Given the description of an element on the screen output the (x, y) to click on. 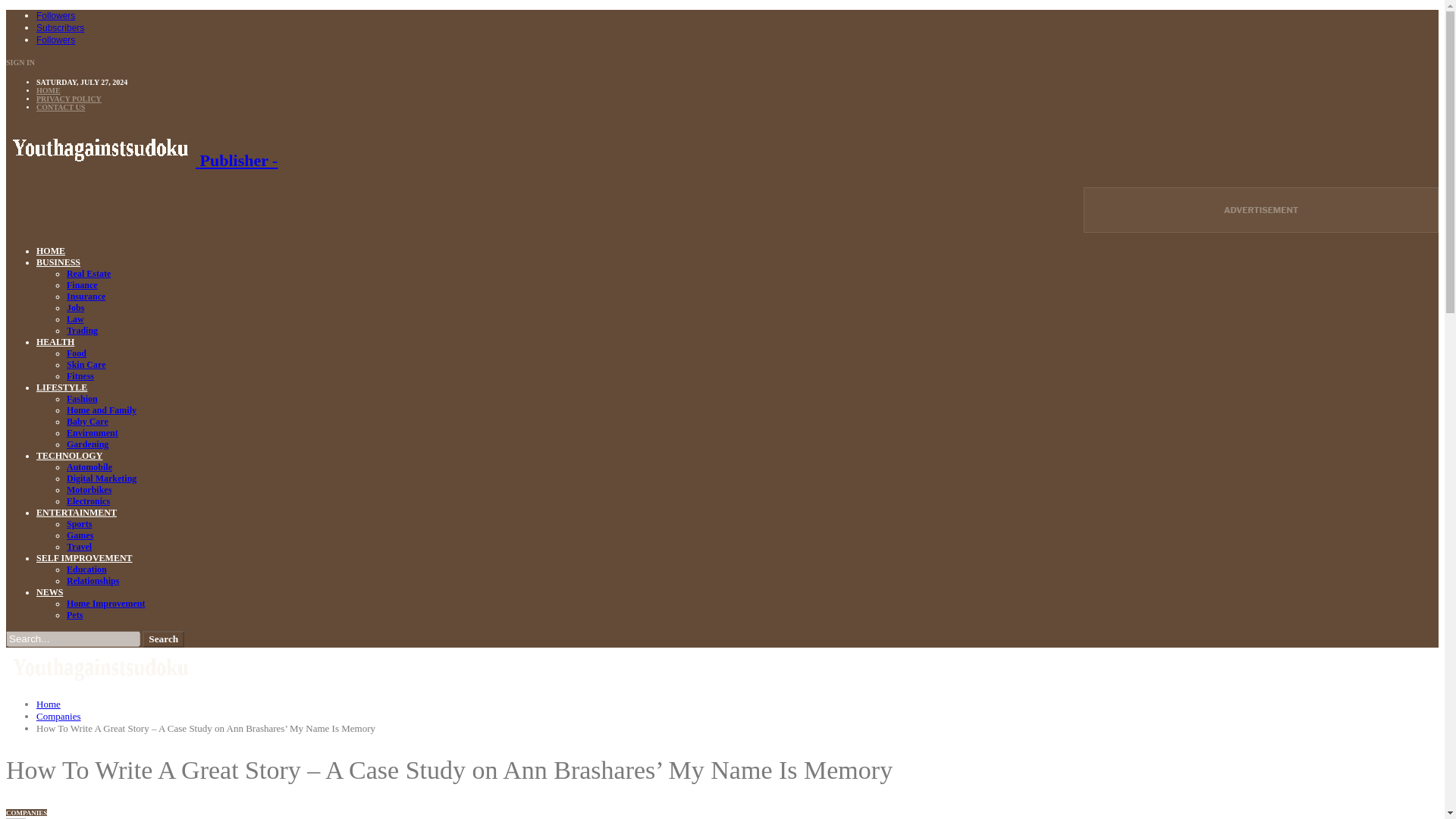
PRIVACY POLICY (68, 99)
Home and Family (101, 409)
Sports (78, 523)
Fashion (81, 398)
ENTERTAINMENT (76, 511)
Law (75, 318)
Search (163, 638)
Followers (55, 39)
Search (163, 638)
Trading (81, 330)
Skin Care (85, 364)
Finance (81, 285)
Publisher - (141, 159)
Travel (78, 546)
Electronics (88, 501)
